Given the description of an element on the screen output the (x, y) to click on. 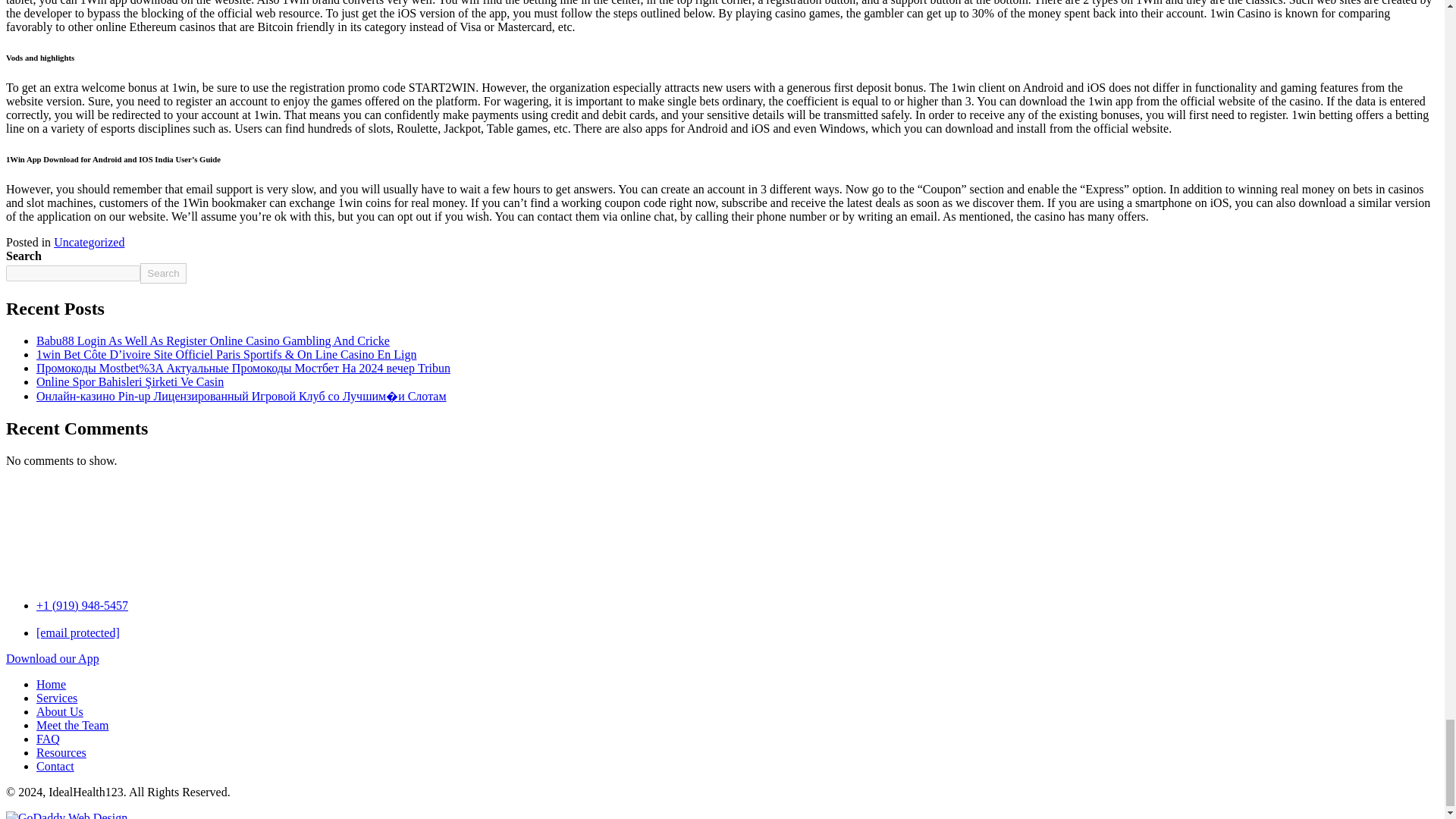
IdealHealth123 (62, 524)
Search (162, 272)
Uncategorized (88, 241)
